Given the description of an element on the screen output the (x, y) to click on. 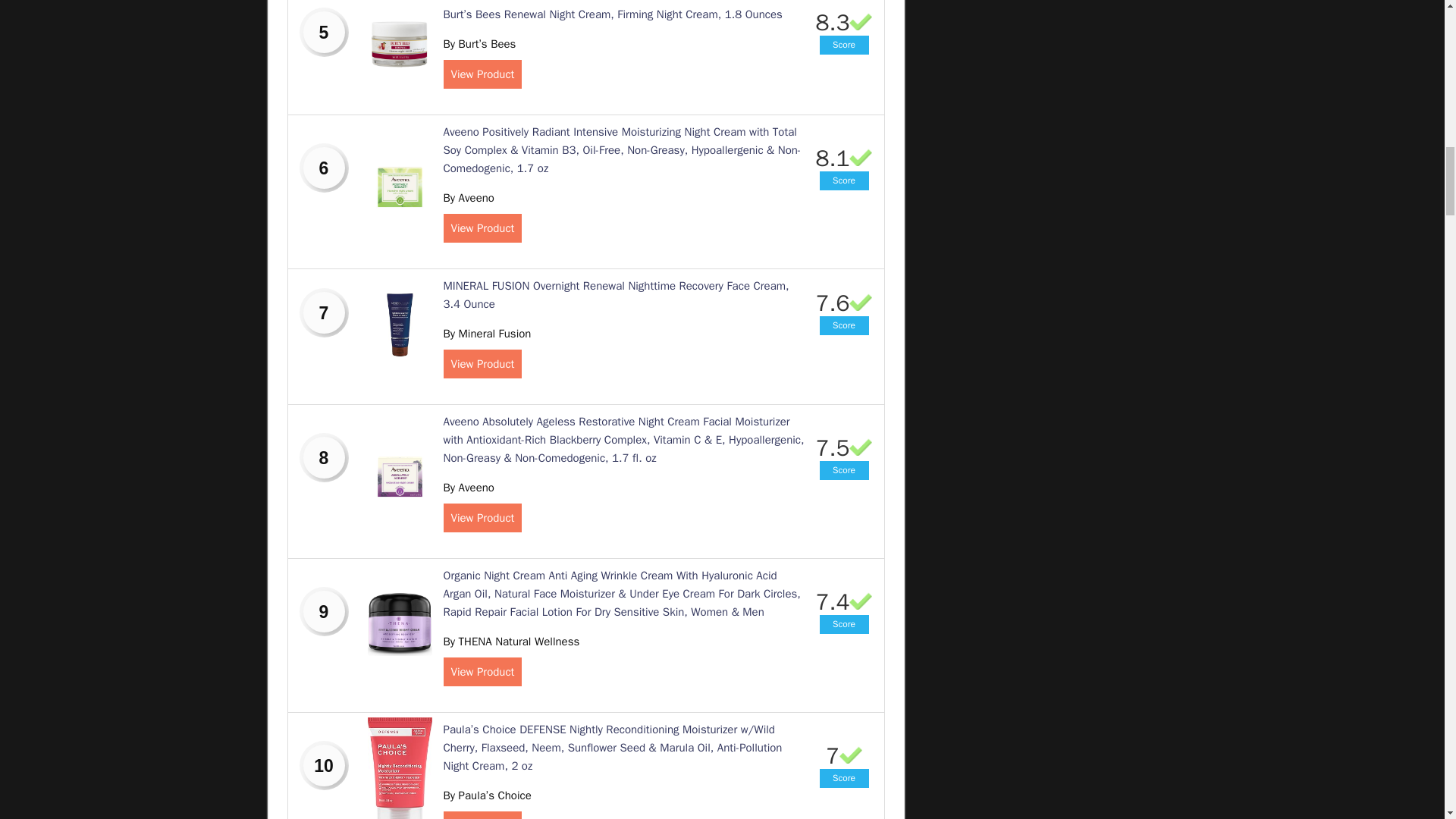
By Aveeno (467, 197)
View Product (481, 73)
View Product (481, 227)
